Given the description of an element on the screen output the (x, y) to click on. 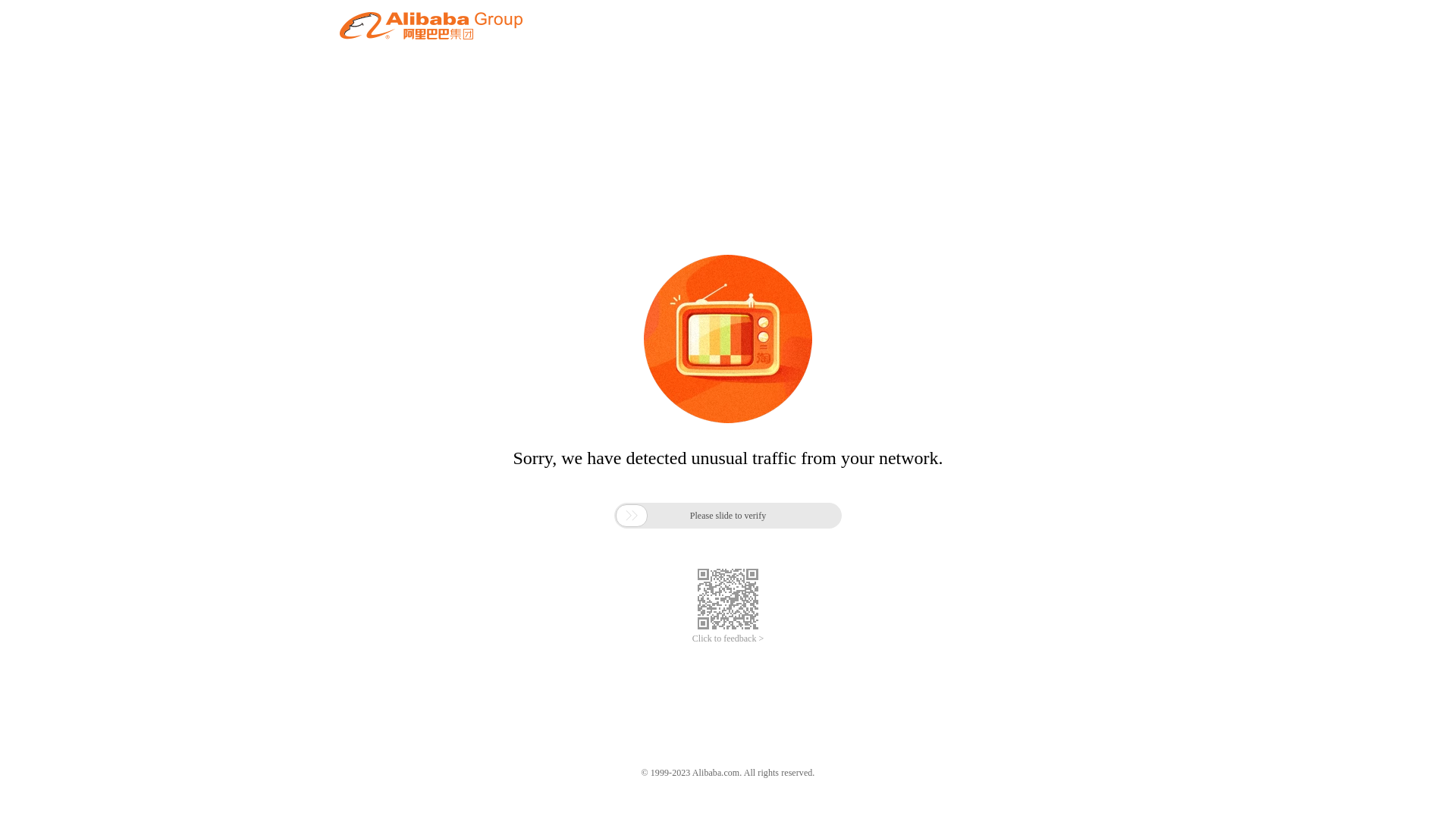
Click to feedback > Element type: text (727, 638)
